Given the description of an element on the screen output the (x, y) to click on. 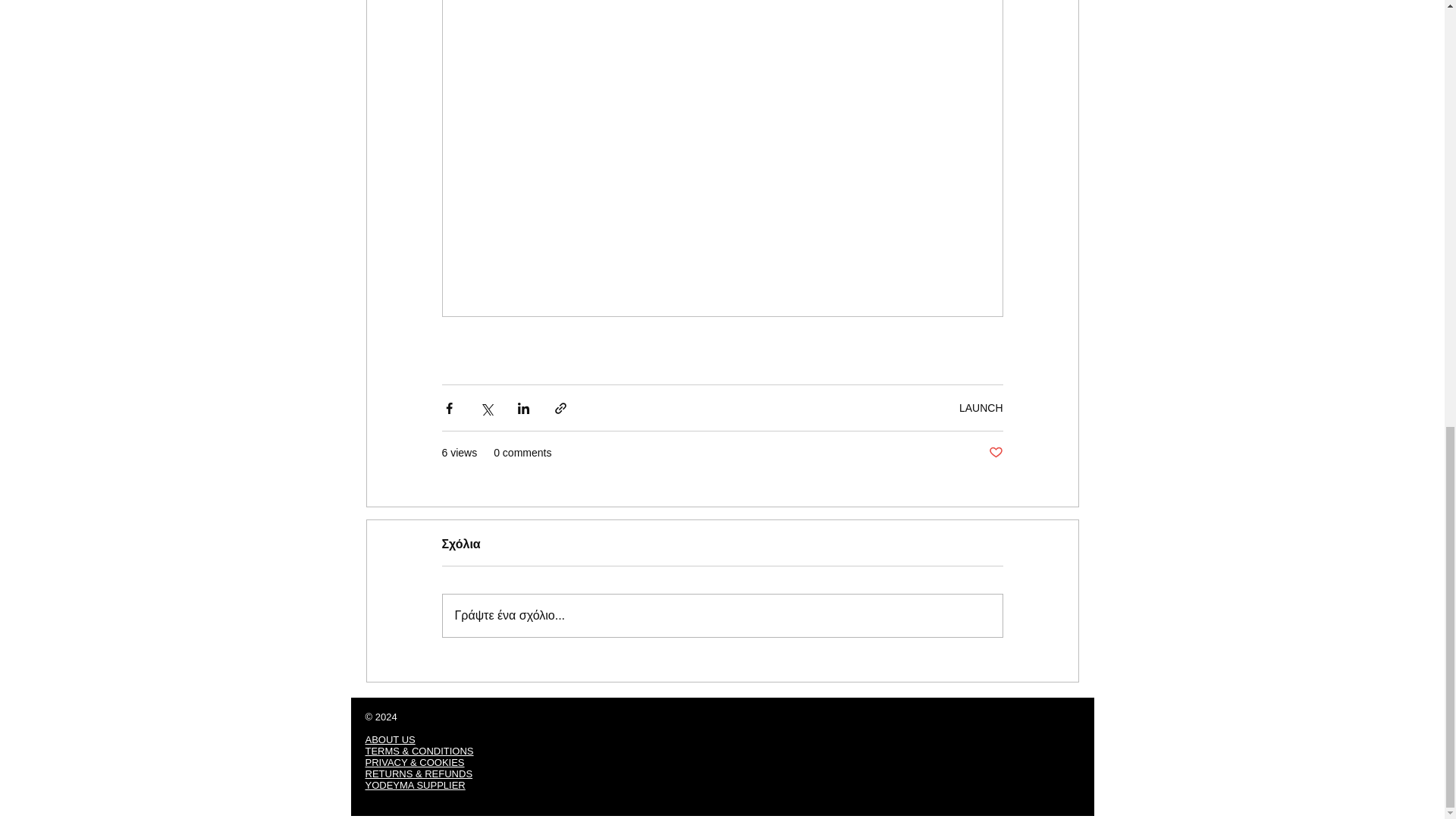
ABOUT US (389, 739)
LAUNCH (981, 408)
Post not marked as liked (995, 453)
